Given the description of an element on the screen output the (x, y) to click on. 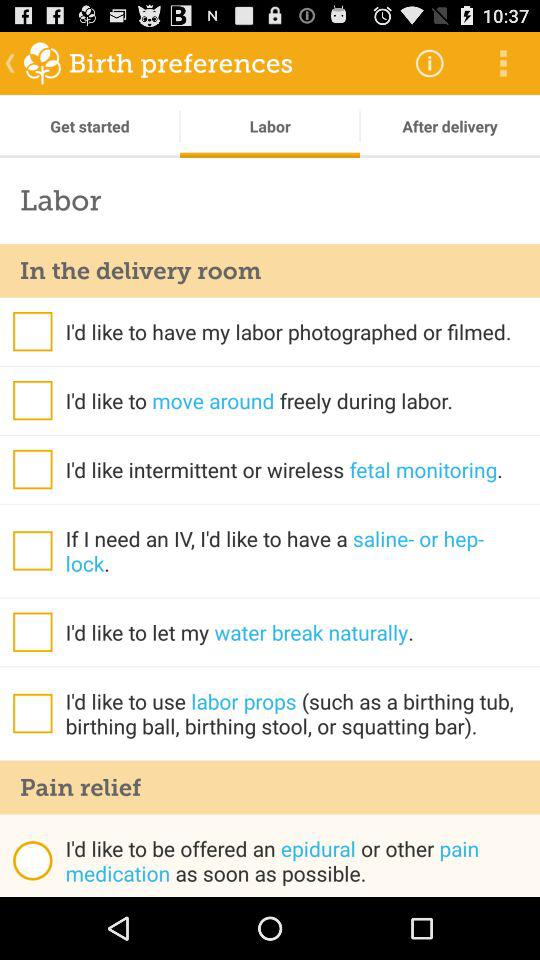
select item (32, 631)
